Given the description of an element on the screen output the (x, y) to click on. 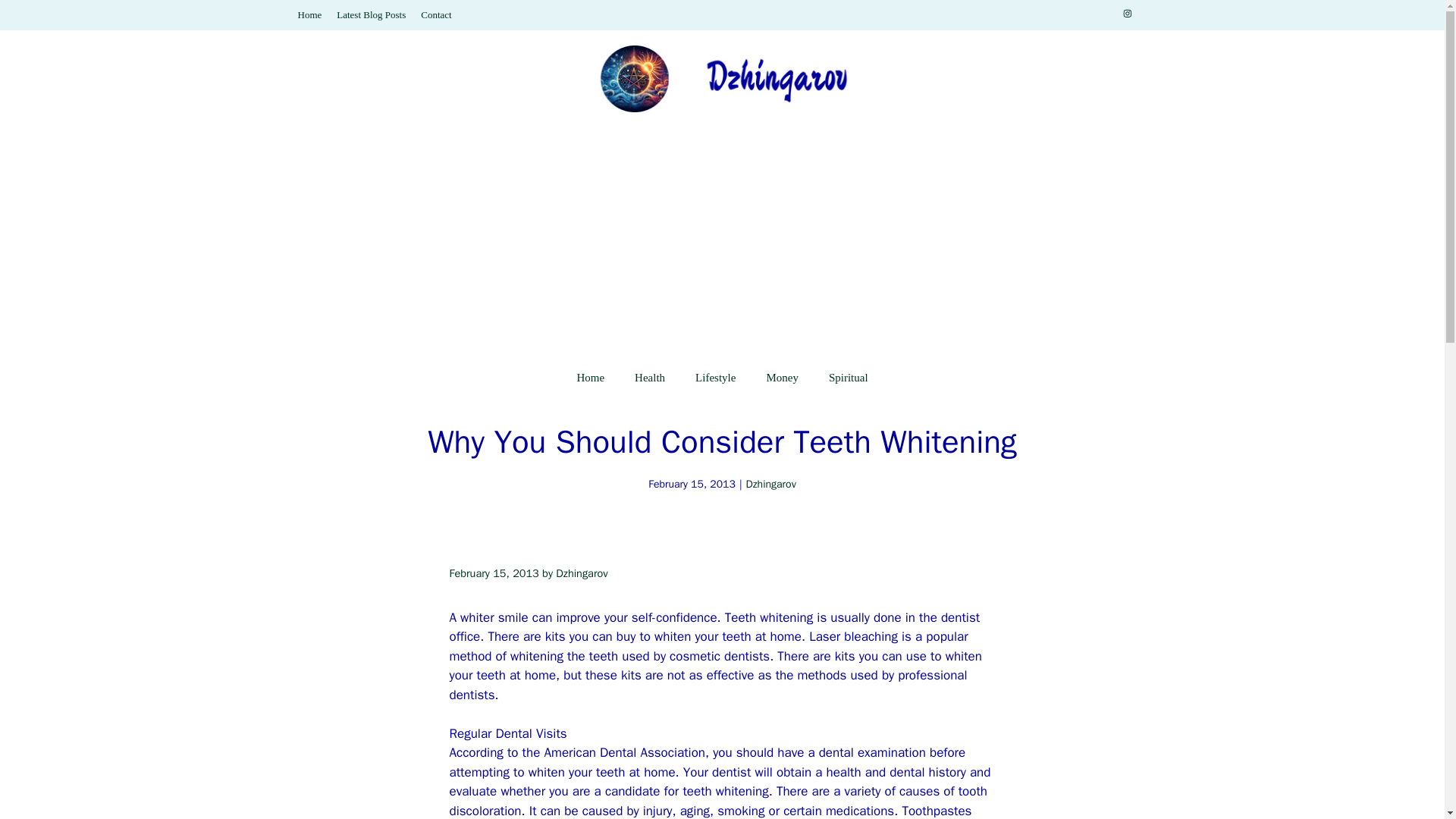
Lifestyle (715, 377)
Contact (435, 14)
Dzhingarov (581, 572)
Home (309, 14)
Health (649, 377)
Spiritual (848, 377)
View all posts by Dzhingarov (581, 572)
Money (782, 377)
Home (590, 377)
